Given the description of an element on the screen output the (x, y) to click on. 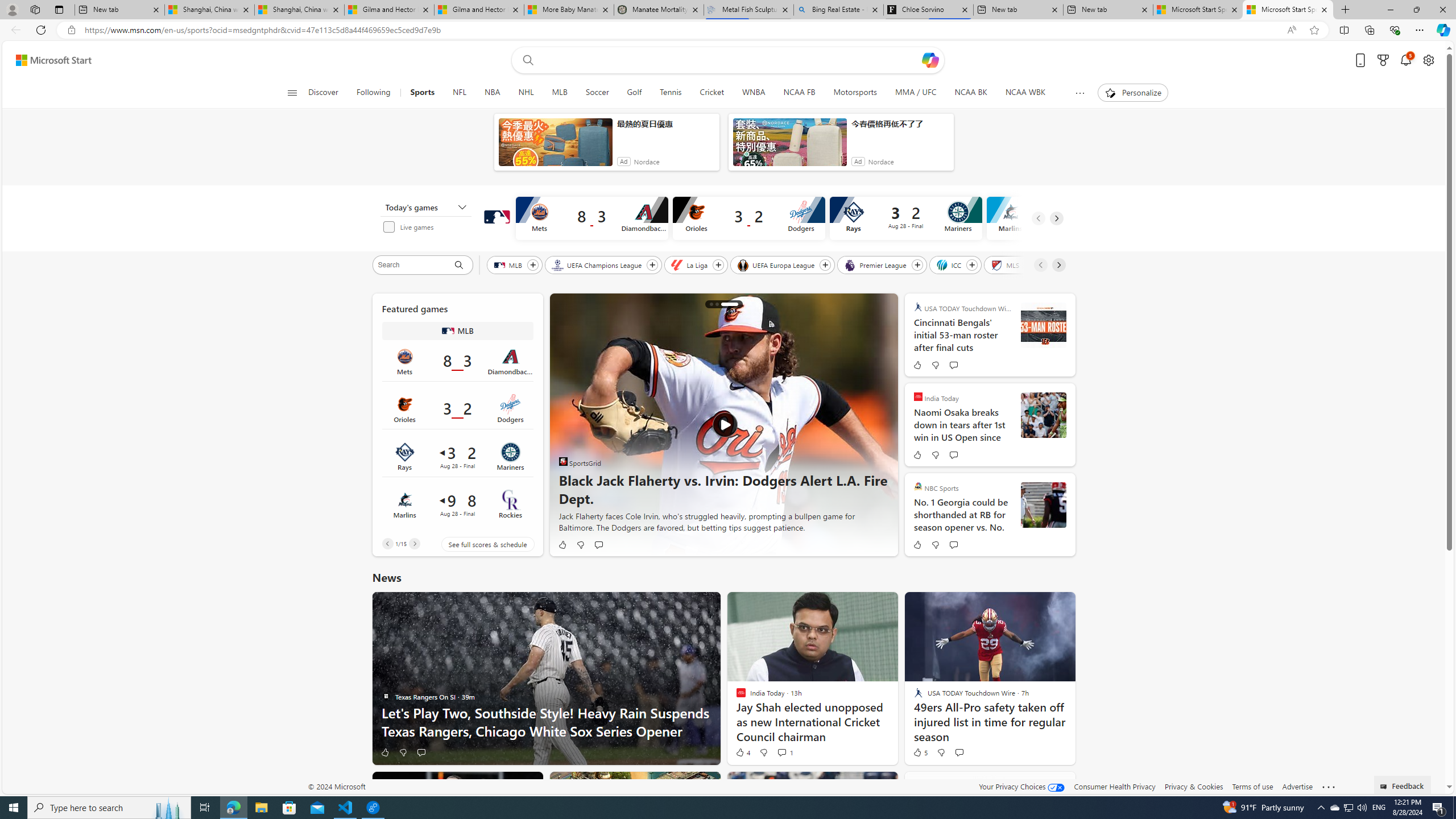
Sports (422, 92)
Kirby Smart (1042, 504)
Hide this story (1040, 784)
MLB MLB (456, 330)
Golf (634, 92)
Follow UEFA Europa League (825, 265)
Class: button-glyph (292, 92)
Class: feedback_link_icon-DS-EntryPoint1-1 (1384, 786)
USA TODAY Touchdown Wire (917, 306)
Microsoft rewards (1382, 60)
5 Like (919, 752)
anim-content (789, 146)
NCAA BK (969, 92)
UEFA Europa League (777, 264)
Motorsports (854, 92)
